Given the description of an element on the screen output the (x, y) to click on. 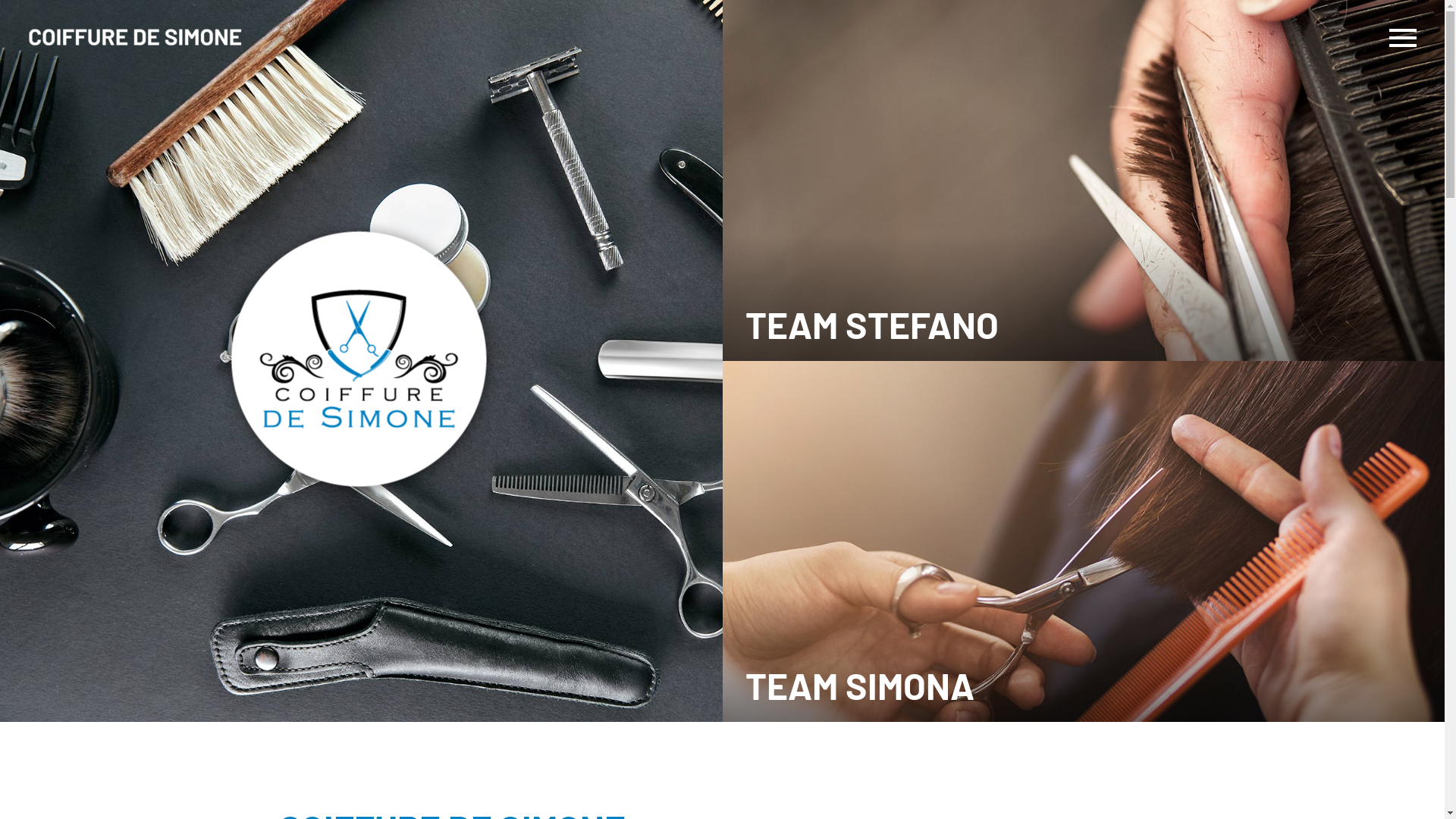
Primary Menu Element type: text (1402, 37)
